Given the description of an element on the screen output the (x, y) to click on. 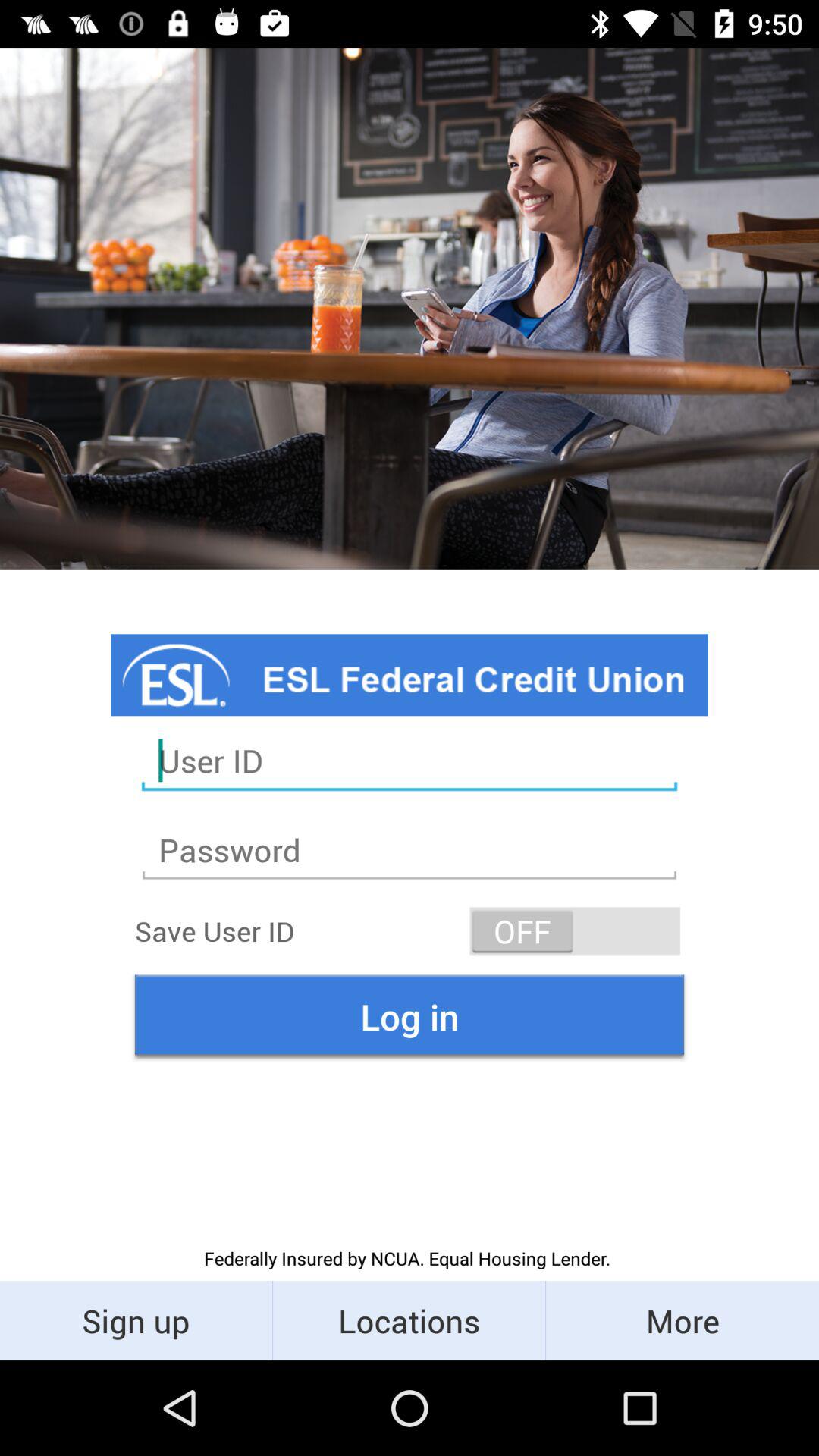
press icon next to save user id (574, 930)
